Given the description of an element on the screen output the (x, y) to click on. 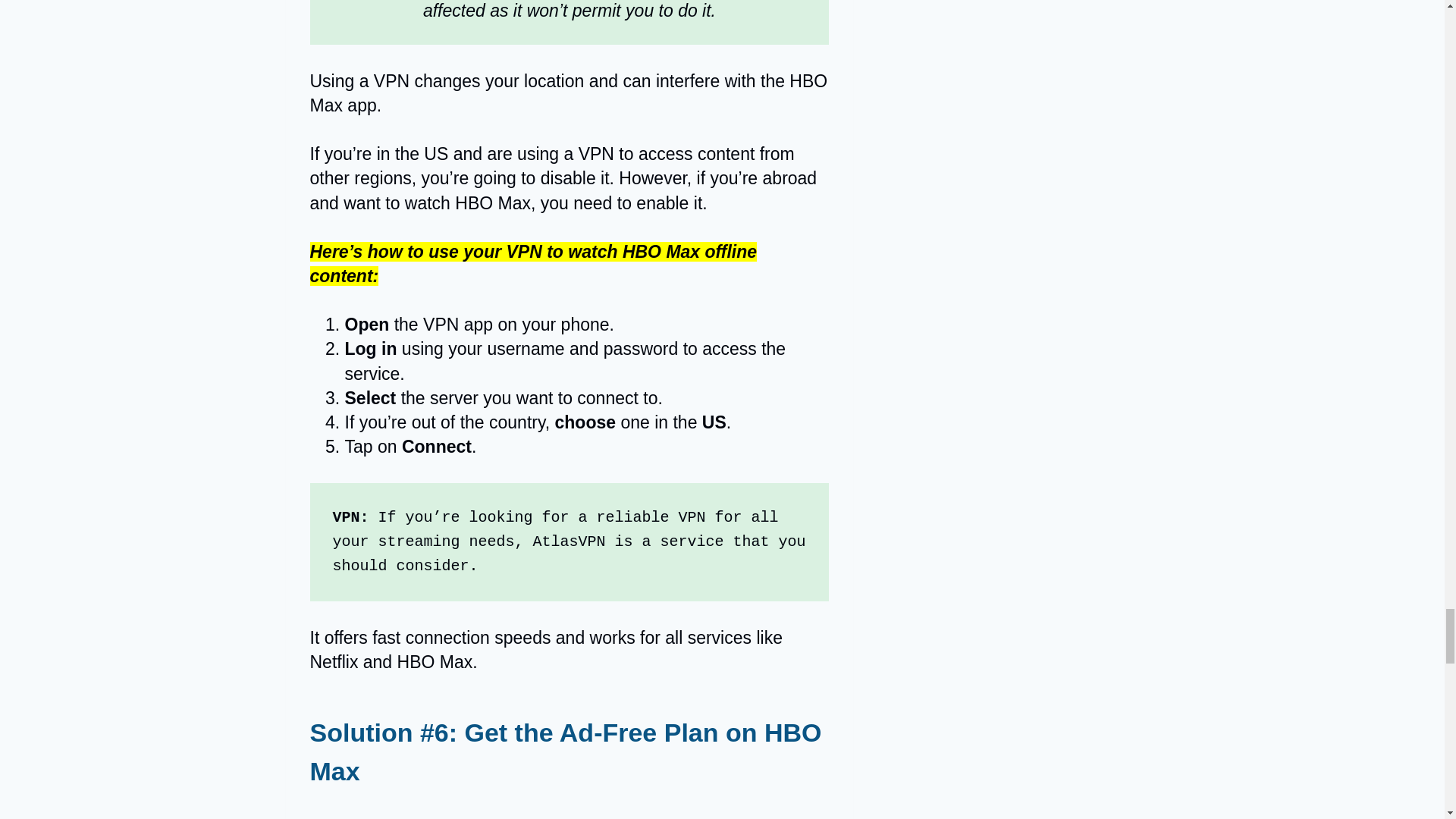
HBO Max Downloads Not Working Offline? - Easy Fix 9 (568, 811)
